Given the description of an element on the screen output the (x, y) to click on. 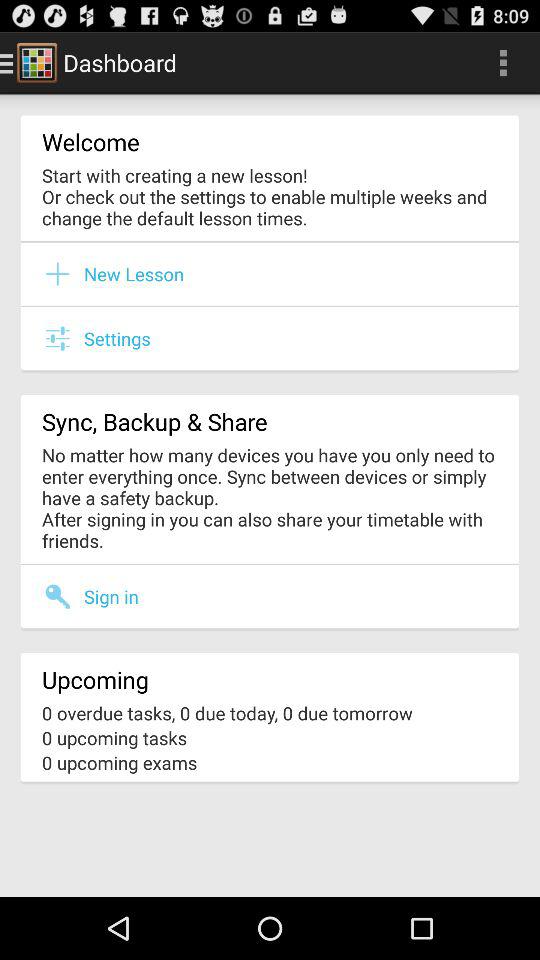
press the item below the sync, backup & share (269, 497)
